Given the description of an element on the screen output the (x, y) to click on. 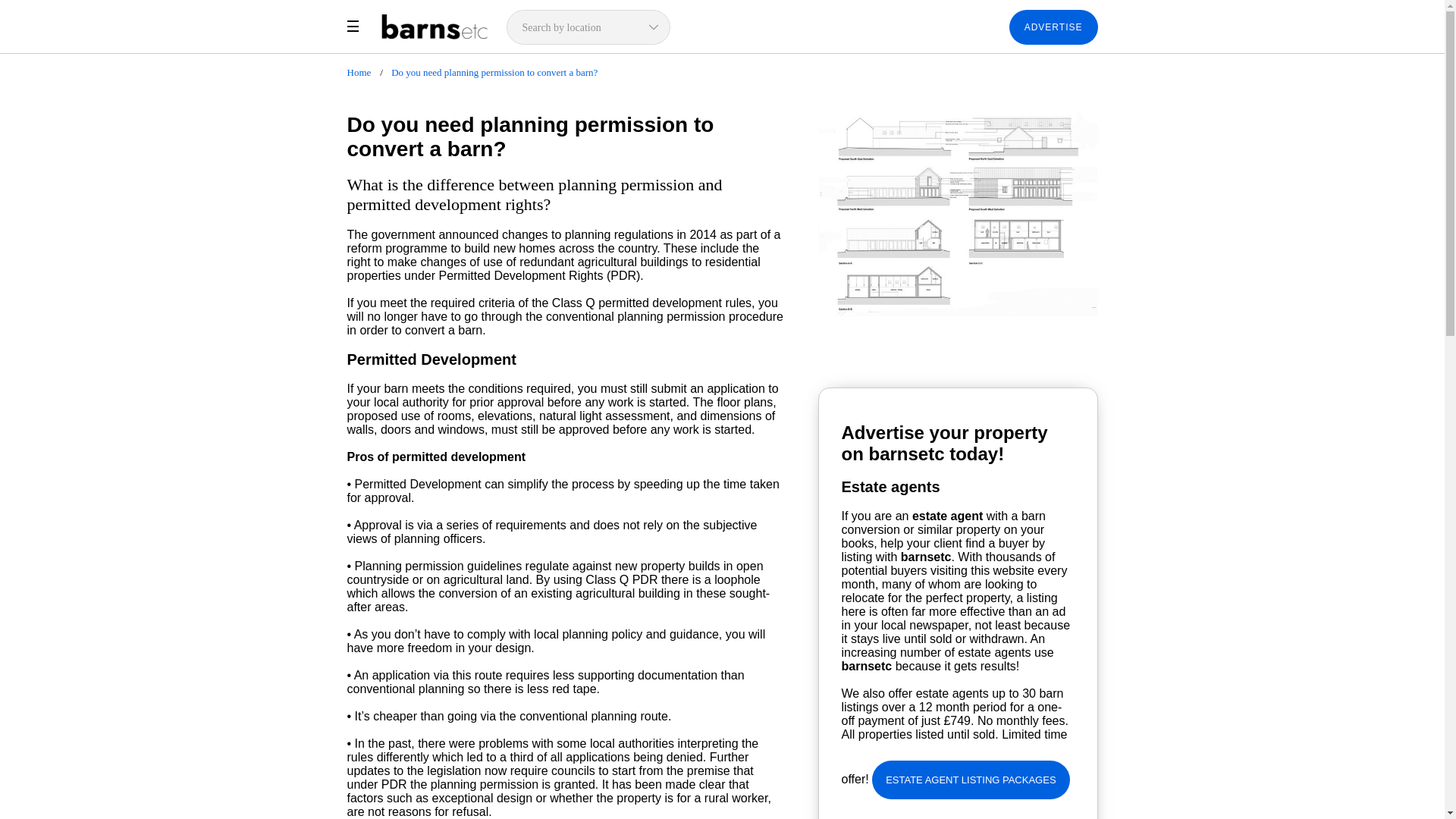
Home (359, 71)
Do you need planning permission to convert a barn? (493, 71)
ESTATE AGENT LISTING PACKAGES (970, 779)
ESTATE AGENT LISTING PACKAGES (970, 779)
ADVERTISE (1053, 27)
